Given the description of an element on the screen output the (x, y) to click on. 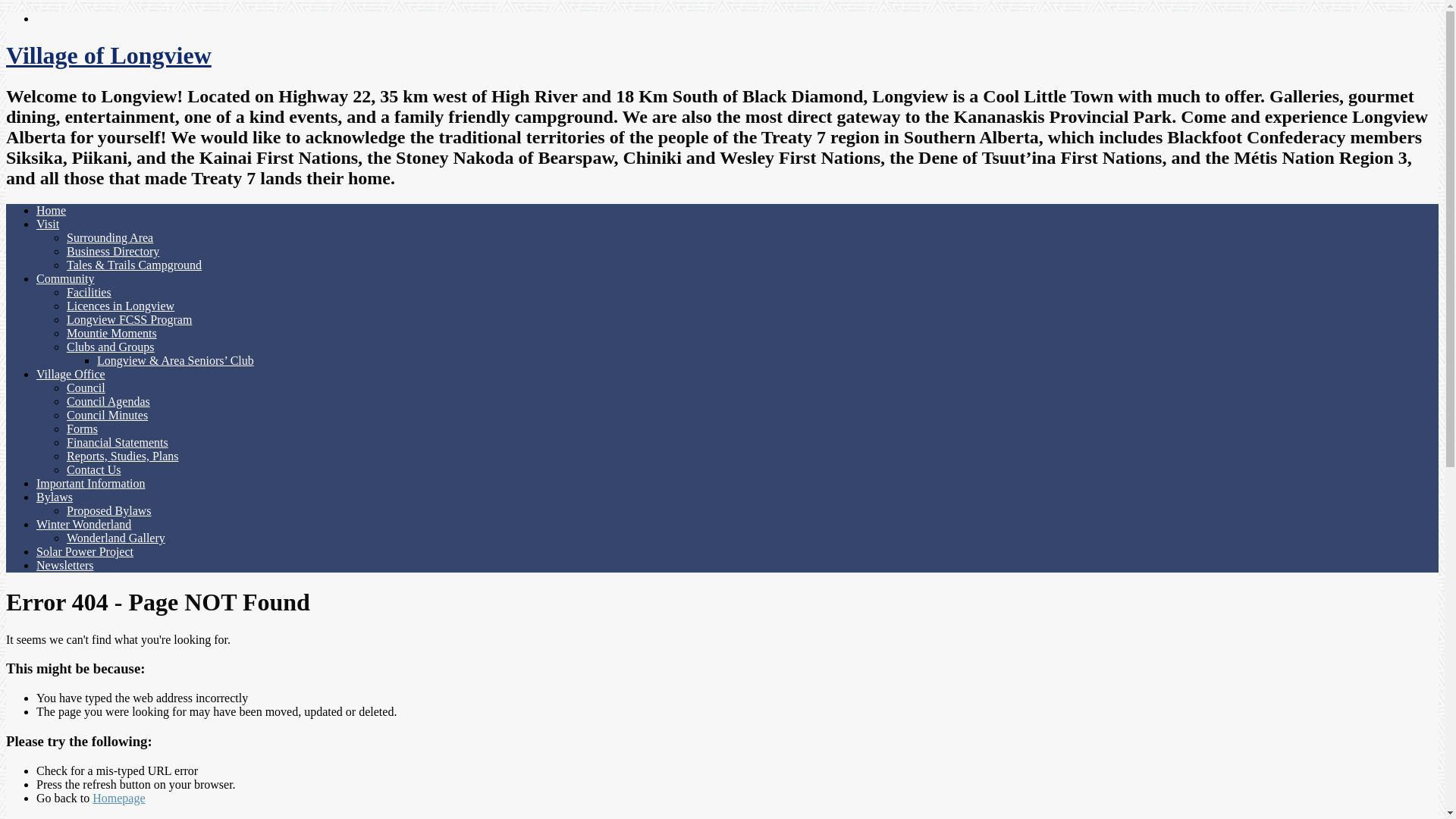
Wonderland Gallery Element type: text (115, 537)
Homepage Element type: text (118, 797)
Contact Us Element type: text (93, 469)
Proposed Bylaws Element type: text (108, 510)
Clubs and Groups Element type: text (110, 346)
Solar Power Project Element type: text (84, 551)
Surrounding Area Element type: text (109, 237)
Financial Statements Element type: text (117, 442)
Council Agendas Element type: text (108, 401)
Important Information Element type: text (90, 482)
Facilities Element type: text (88, 291)
Newsletters Element type: text (65, 564)
Village of Longview Element type: text (108, 55)
Forms Element type: text (81, 428)
Mountie Moments Element type: text (111, 332)
Tales & Trails Campground Element type: text (133, 264)
Reports, Studies, Plans Element type: text (122, 455)
Bylaws Element type: text (54, 496)
Winter Wonderland Element type: text (83, 523)
Community Element type: text (65, 278)
Council Element type: text (85, 387)
Home Element type: text (50, 209)
Longview FCSS Program Element type: text (128, 319)
Visit Element type: text (47, 223)
Licences in Longview Element type: text (120, 305)
Business Directory Element type: text (112, 250)
Village Office Element type: text (70, 373)
Council Minutes Element type: text (106, 414)
